Given the description of an element on the screen output the (x, y) to click on. 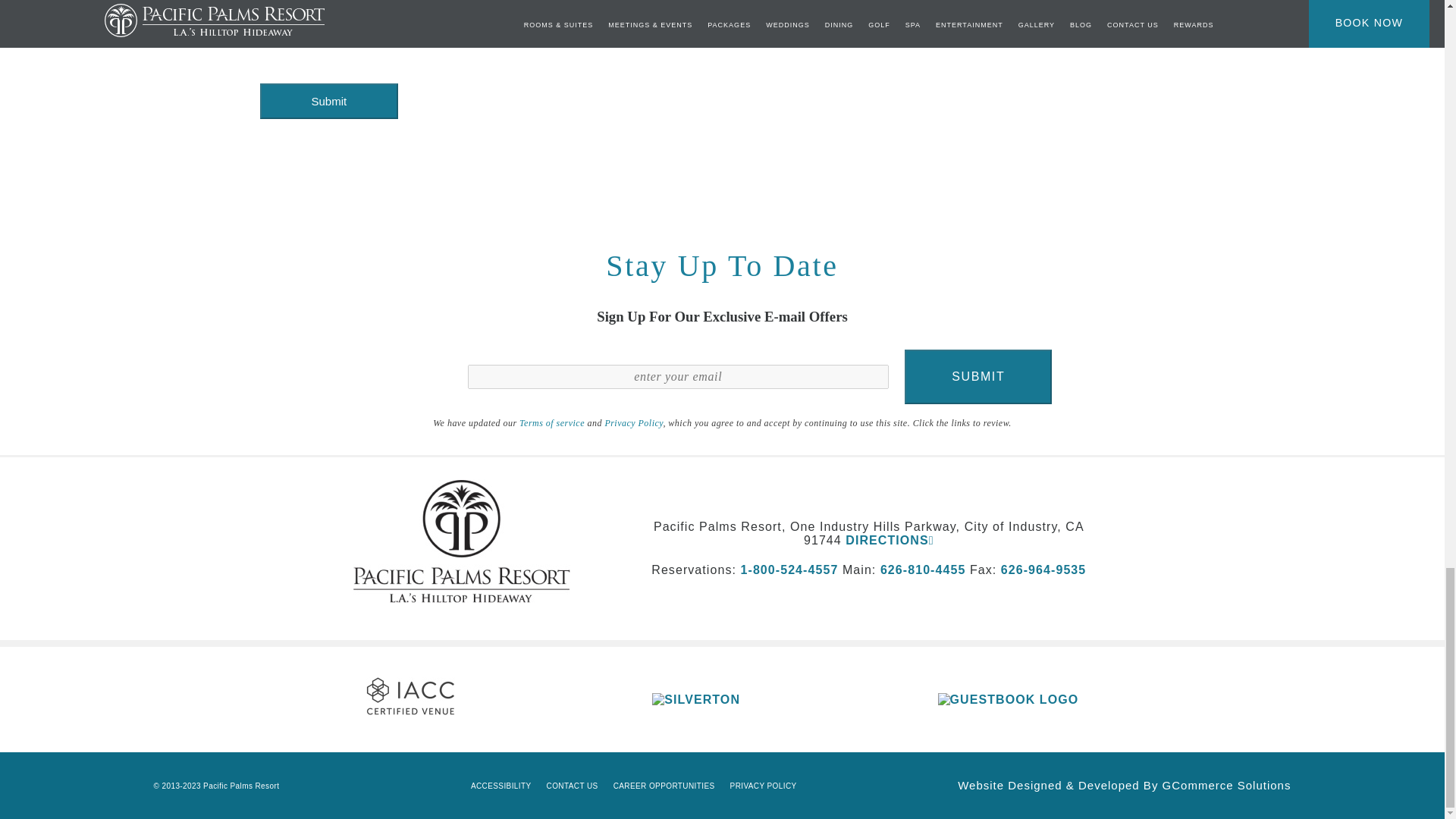
1 (264, 21)
Submit (328, 100)
Submit (977, 376)
